Given the description of an element on the screen output the (x, y) to click on. 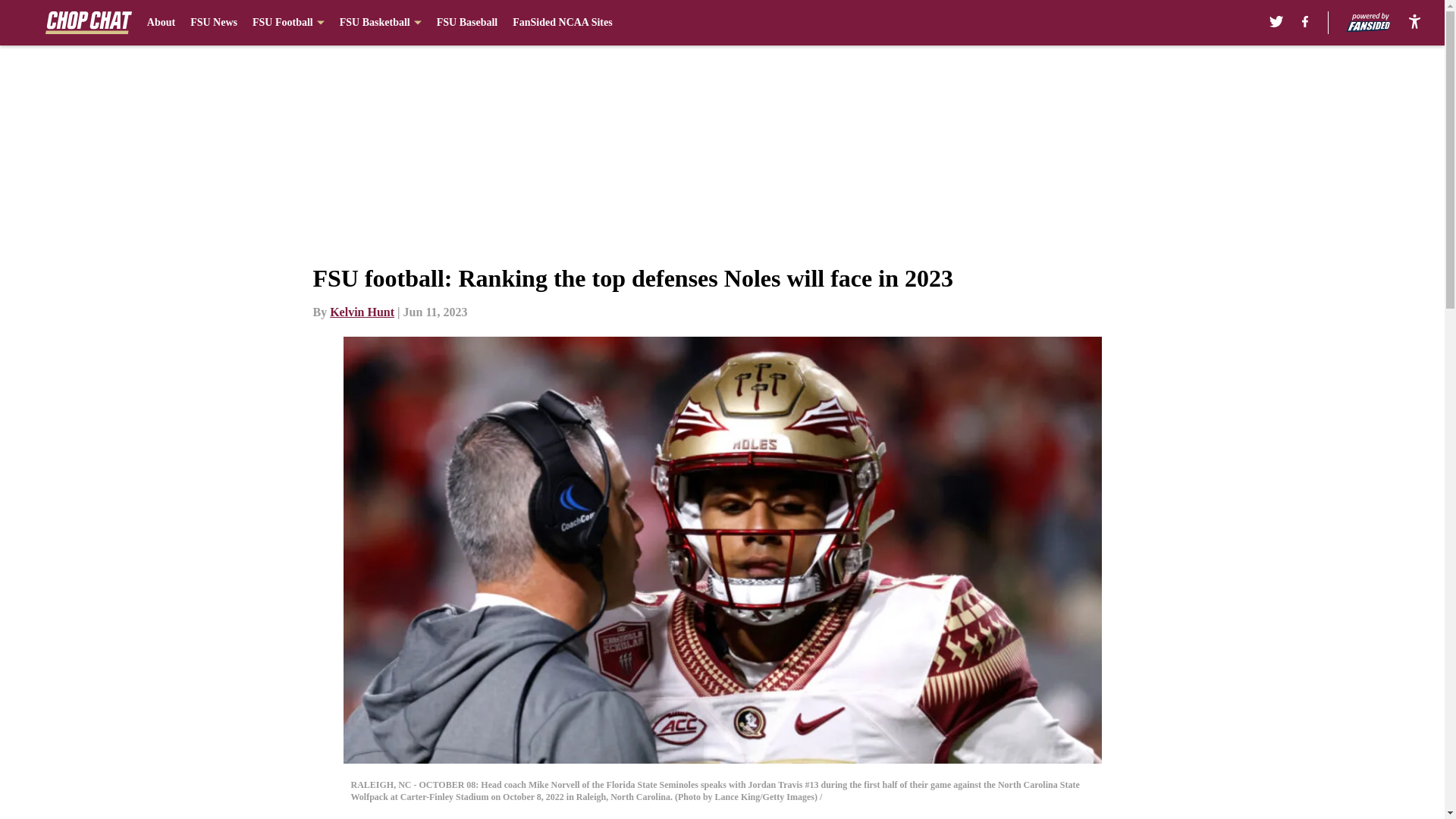
FanSided NCAA Sites (561, 22)
Kelvin Hunt (362, 311)
FSU News (213, 22)
About (160, 22)
FSU Baseball (466, 22)
